Given the description of an element on the screen output the (x, y) to click on. 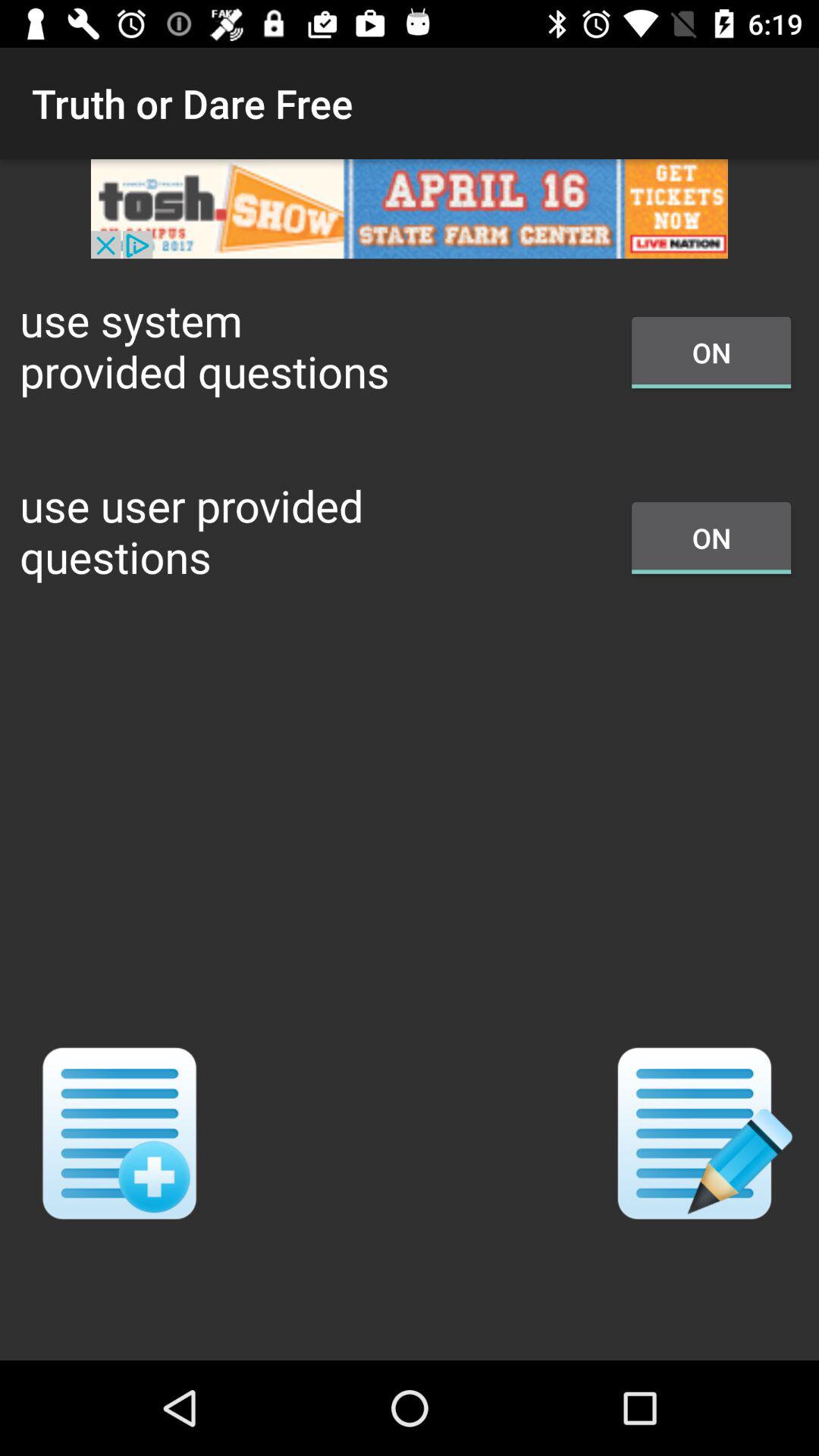
fill in (699, 1133)
